Given the description of an element on the screen output the (x, y) to click on. 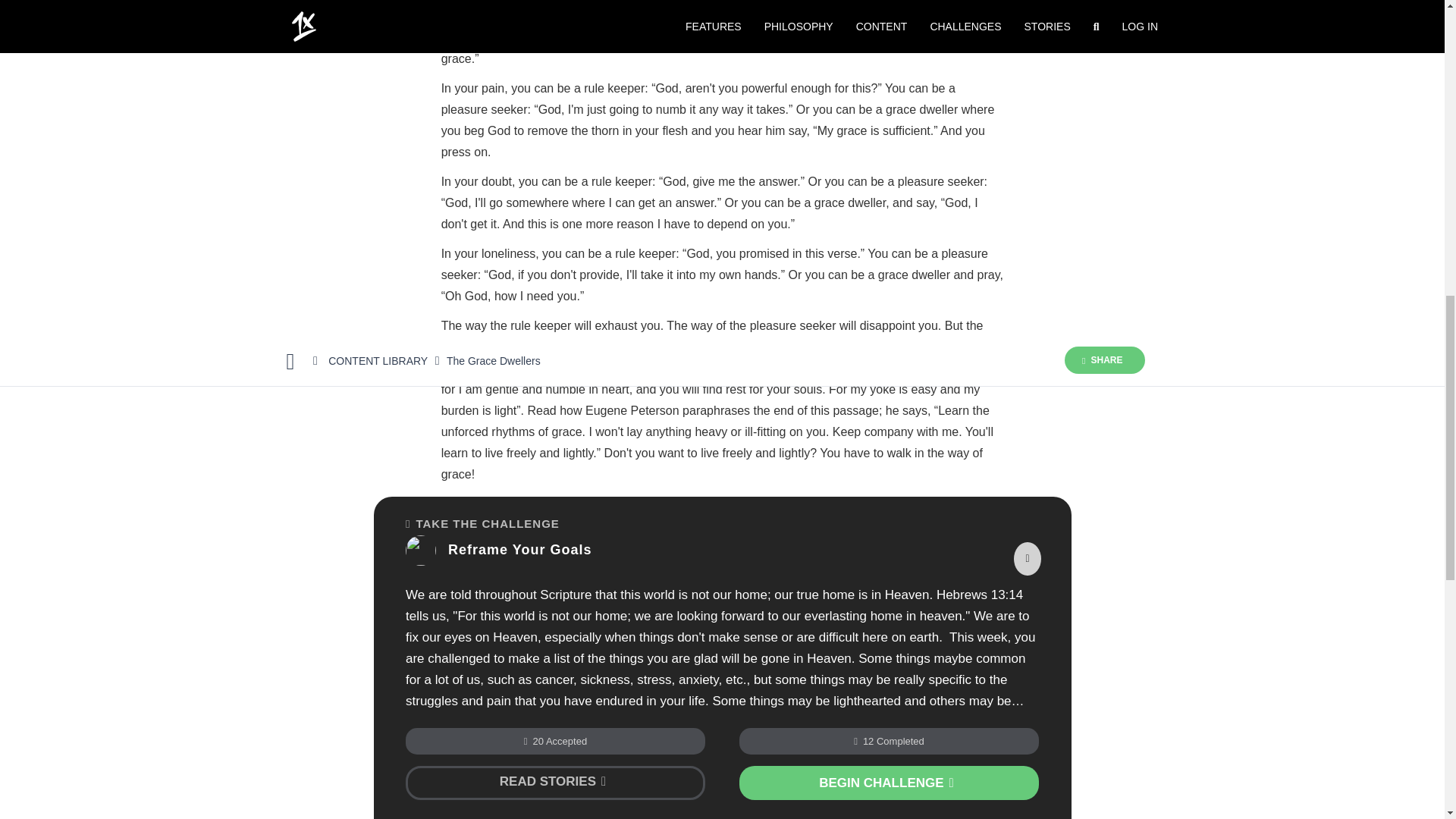
Identity (461, 668)
sign up (630, 766)
login (581, 766)
Growing in Faith (530, 668)
